Given the description of an element on the screen output the (x, y) to click on. 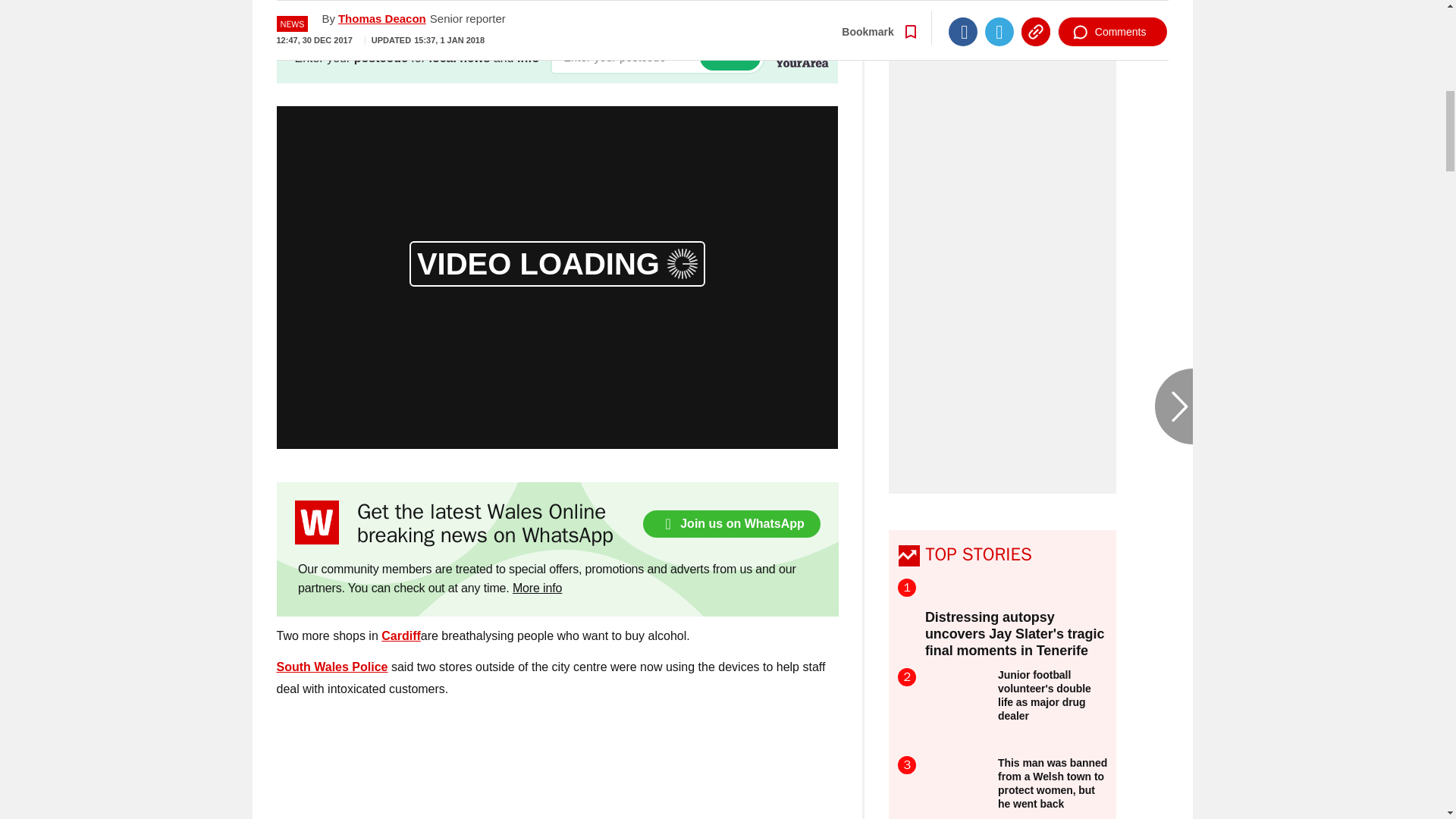
Go (730, 57)
